Given the description of an element on the screen output the (x, y) to click on. 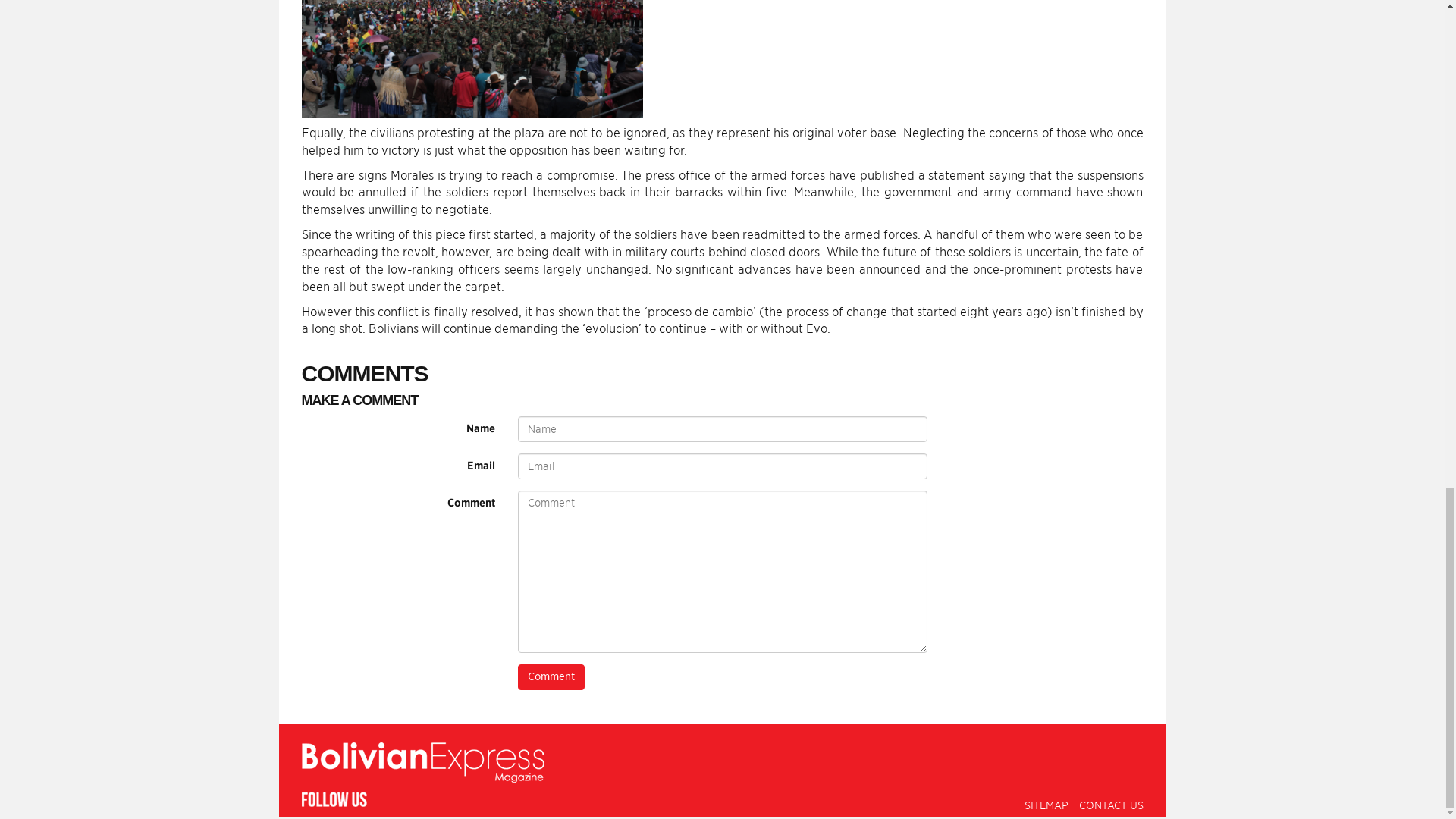
Katharina Von Sohlern 2 (472, 58)
Comment (549, 677)
